Given the description of an element on the screen output the (x, y) to click on. 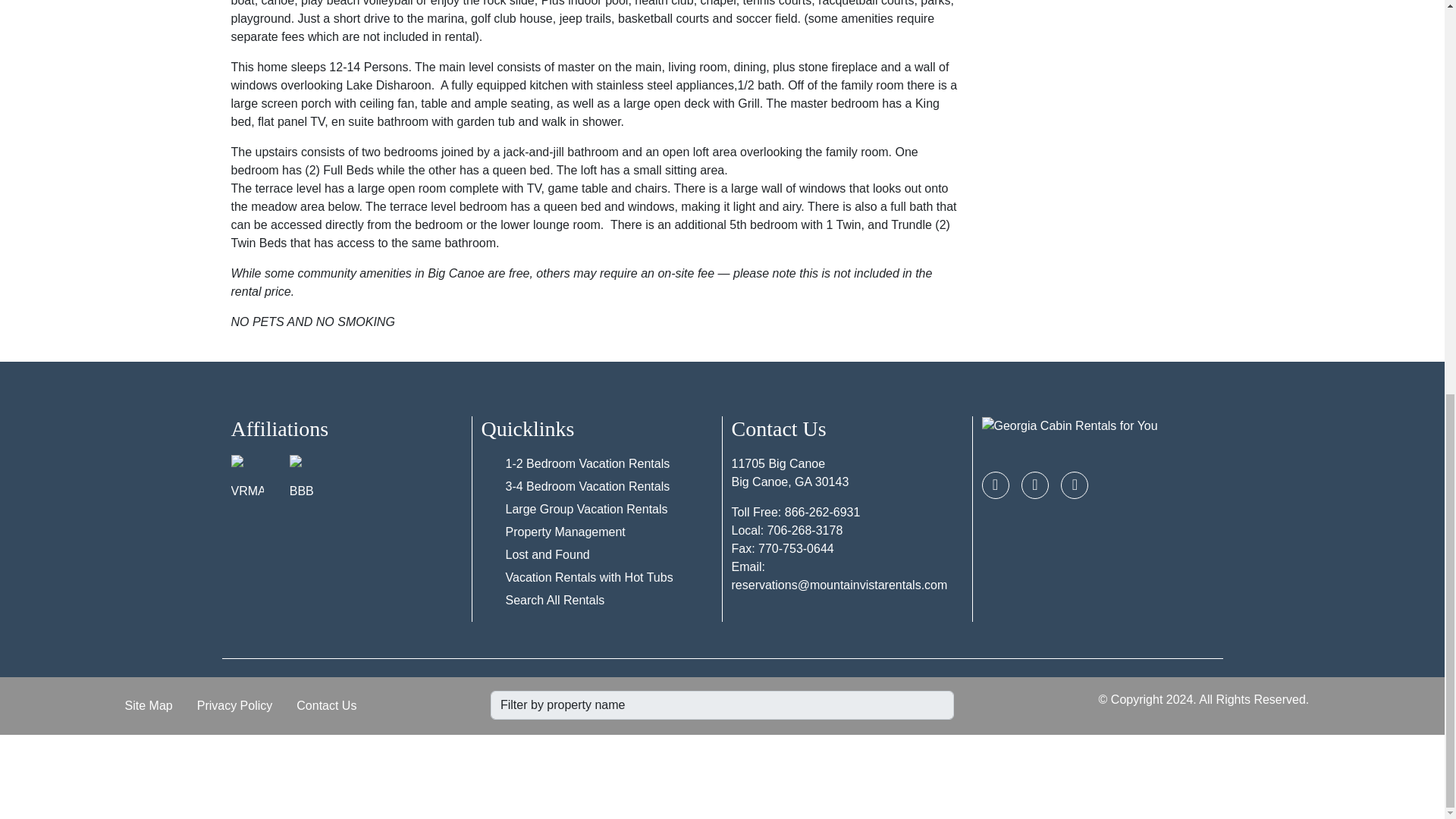
Search All Rentals (554, 599)
3-4 Bedroom Vacation Rentals (587, 486)
1-2 Bedroom Vacation Rentals (587, 463)
Property Management (564, 531)
Vacation Rentals with Hot Tubs (588, 576)
Site Map (148, 706)
Lost and Found (547, 554)
Large Group Vacation Rentals (585, 508)
